Given the description of an element on the screen output the (x, y) to click on. 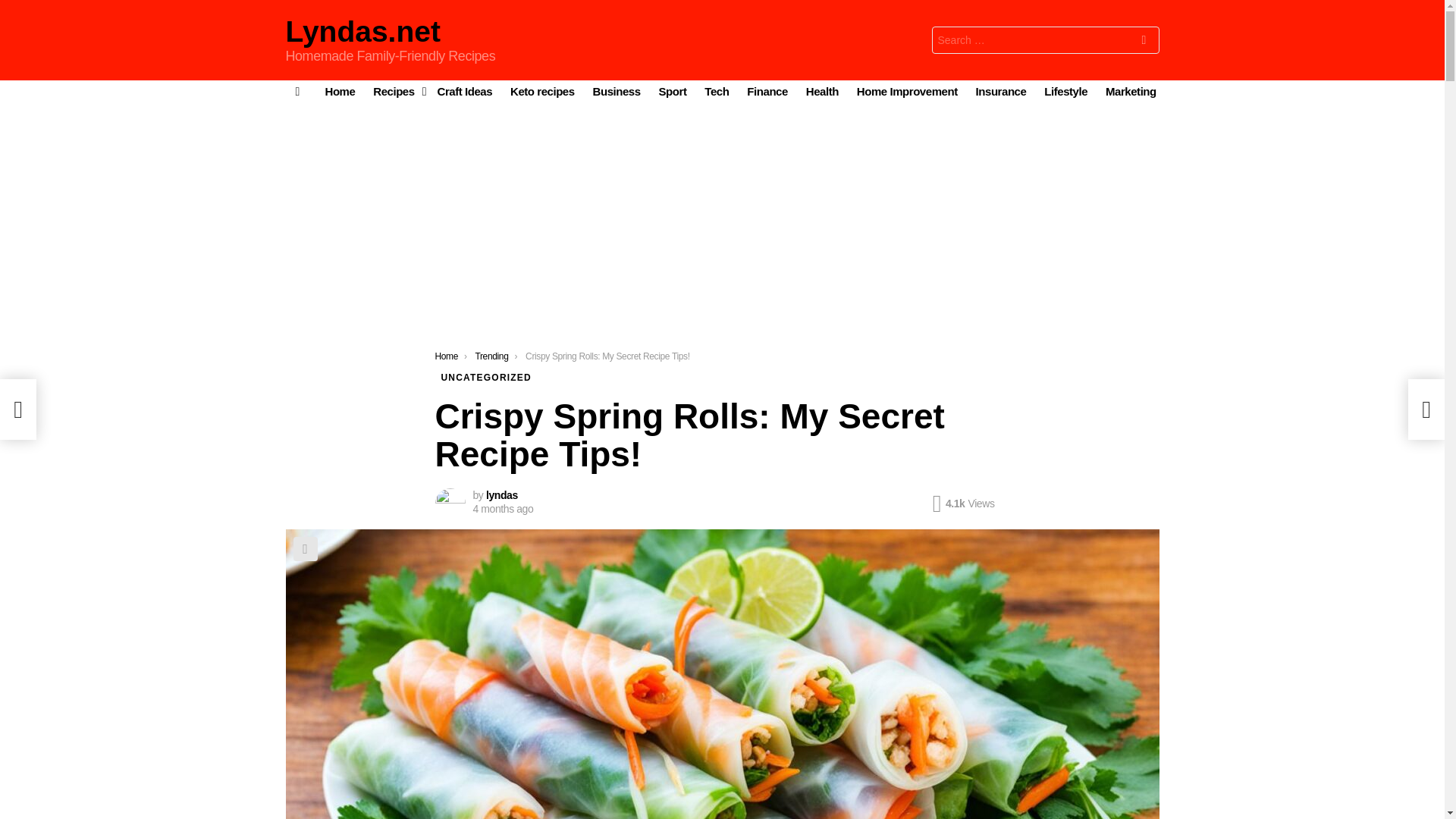
Home Improvement (906, 91)
Posts by lyndas (502, 494)
Home (446, 356)
Marketing (1130, 91)
Finance (766, 91)
Insurance (1000, 91)
Share (304, 549)
Keto recipes (542, 91)
Recipes (395, 91)
Tech (716, 91)
Search for: (1044, 40)
Home (339, 91)
UNCATEGORIZED (486, 377)
Business (616, 91)
